Given the description of an element on the screen output the (x, y) to click on. 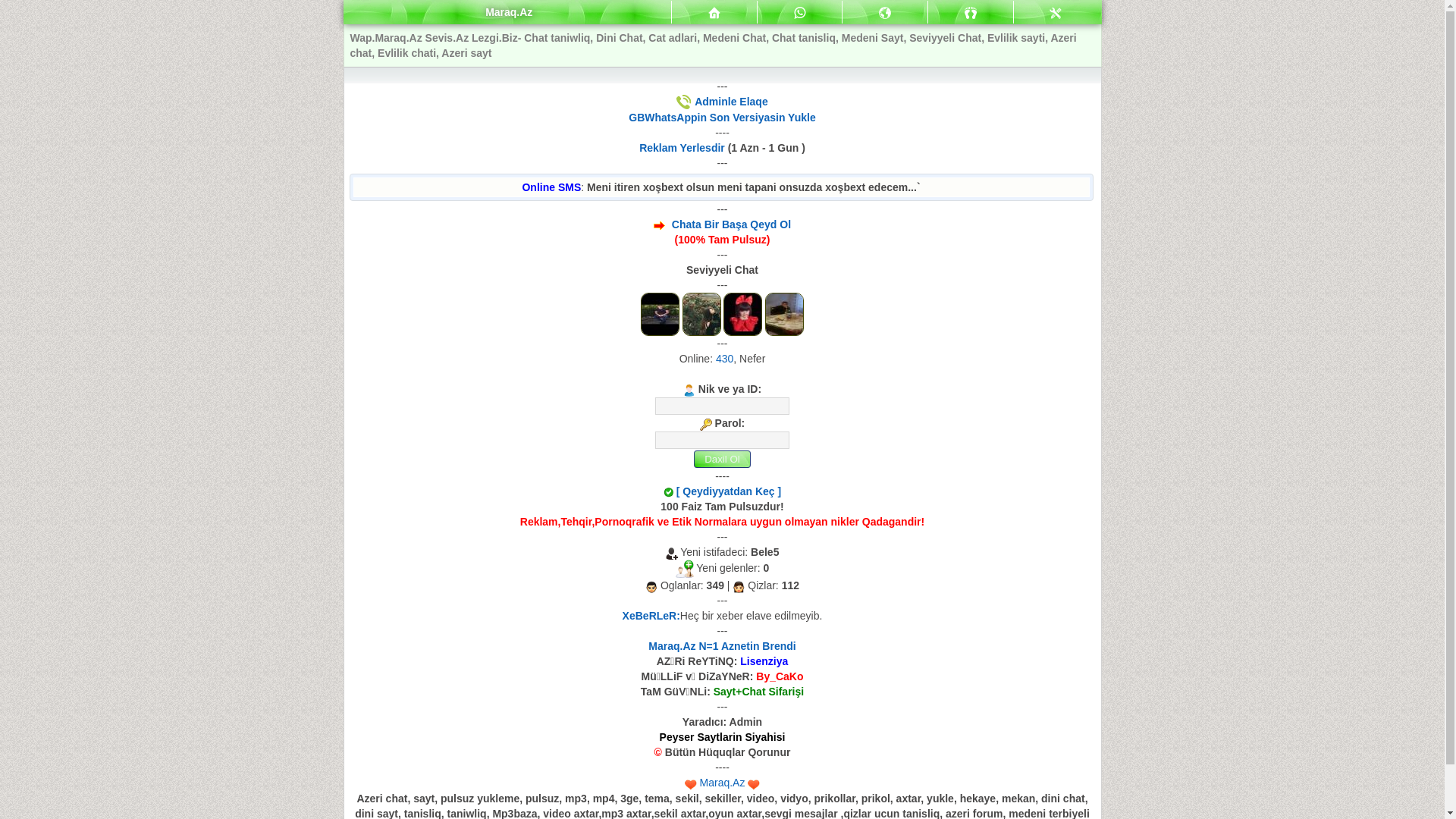
Daxil Ol Element type: text (721, 458)
nick Element type: hover (722, 405)
Reklam Yerlesdir Element type: text (681, 147)
Peyser Saytlarin Siyahisi Element type: text (722, 737)
Mesajlar Element type: hover (799, 11)
430 Element type: text (724, 358)
Mesajlar Element type: hover (713, 11)
Maraq.Az Element type: text (722, 782)
GBWhatsAppin Son Versiyasin Yukle Element type: text (721, 117)
Qonaqlar Element type: hover (970, 12)
Maraq.Az N=1 Aznetin Brendi Element type: text (721, 646)
Lisenziya Element type: text (763, 661)
Bildirisler Element type: hover (884, 12)
Online SMS Element type: text (550, 187)
Ana Sehife Element type: hover (714, 12)
Parol Element type: hover (722, 439)
Mesajlar Element type: hover (799, 12)
XeBeRLeR: Element type: text (651, 615)
Bildirisler Element type: hover (884, 11)
Adminle Elaqe Element type: text (730, 101)
Qonaqlar Element type: hover (970, 11)
